Given the description of an element on the screen output the (x, y) to click on. 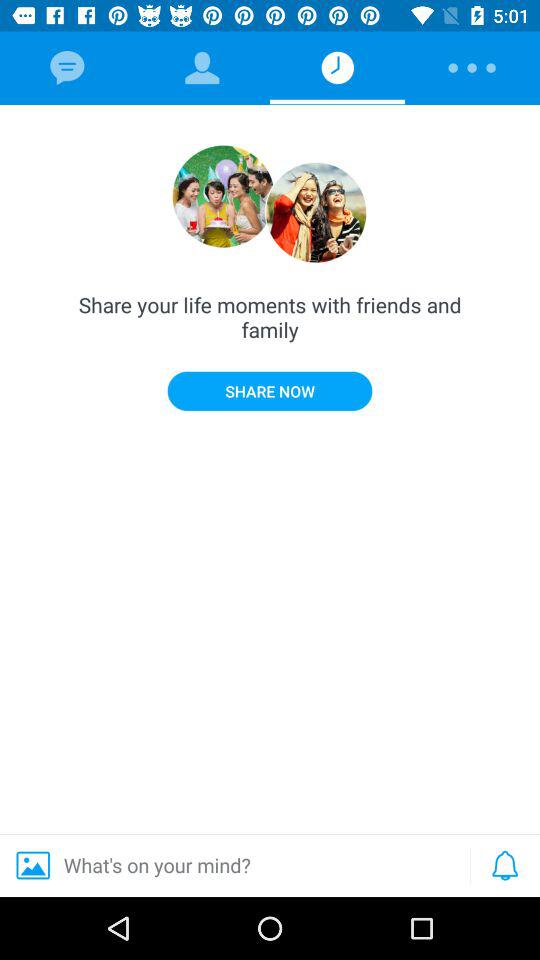
tap what s on item (232, 865)
